Given the description of an element on the screen output the (x, y) to click on. 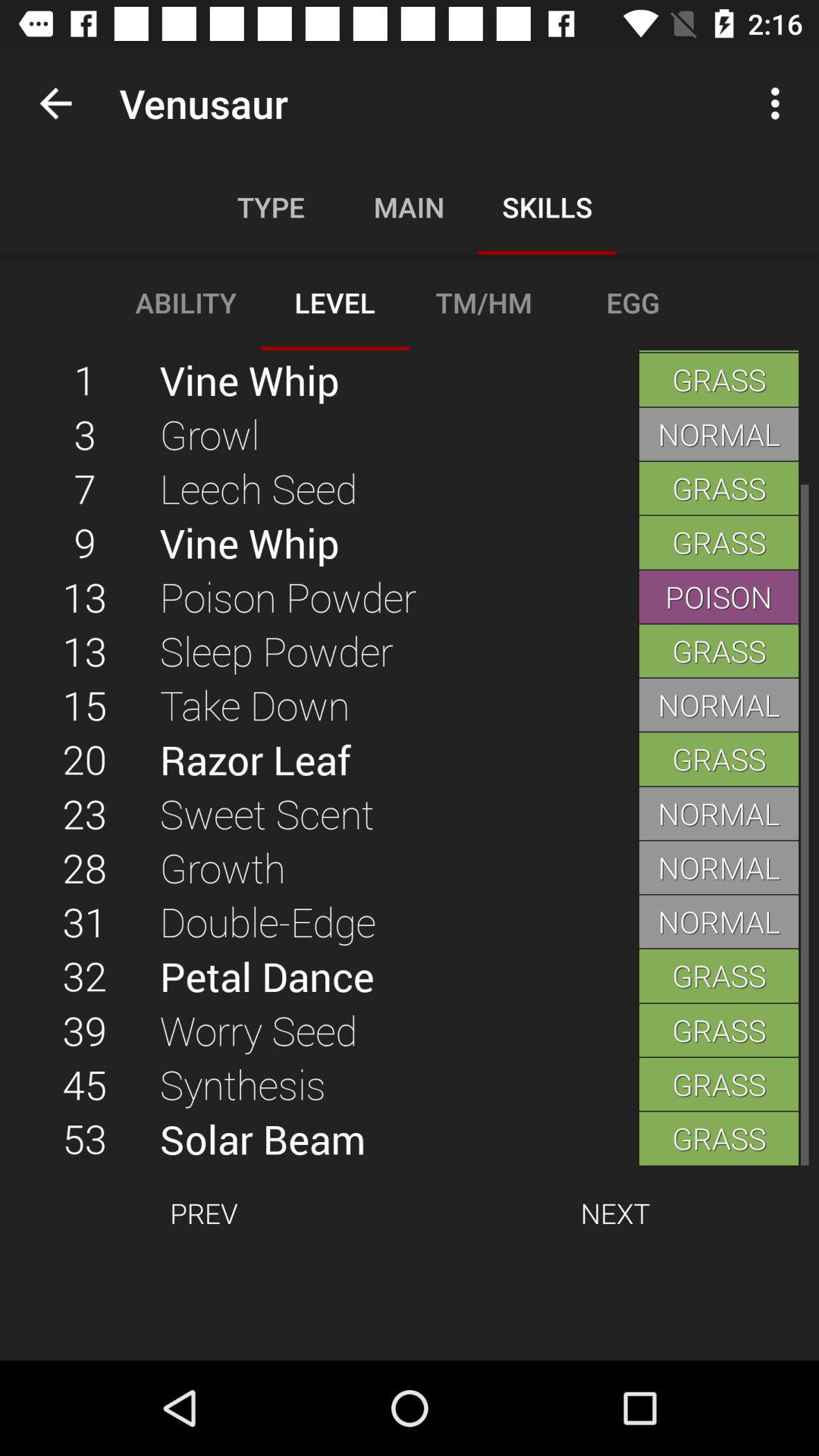
tap the synthesis item (399, 1083)
